Given the description of an element on the screen output the (x, y) to click on. 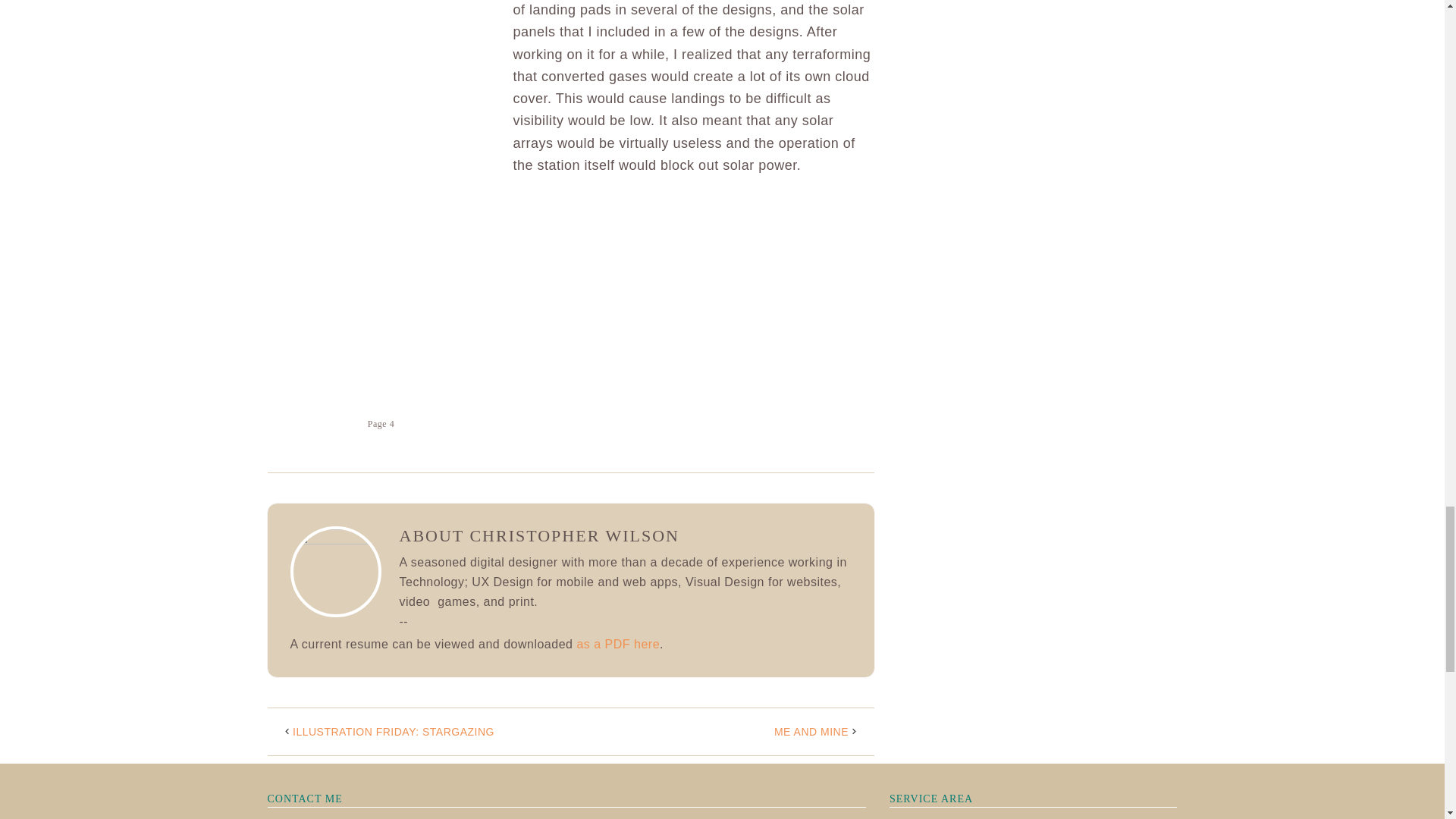
ME AND MINE (811, 731)
as a PDF here (617, 644)
ILLUSTRATION FRIDAY: STARGAZING (393, 731)
